Given the description of an element on the screen output the (x, y) to click on. 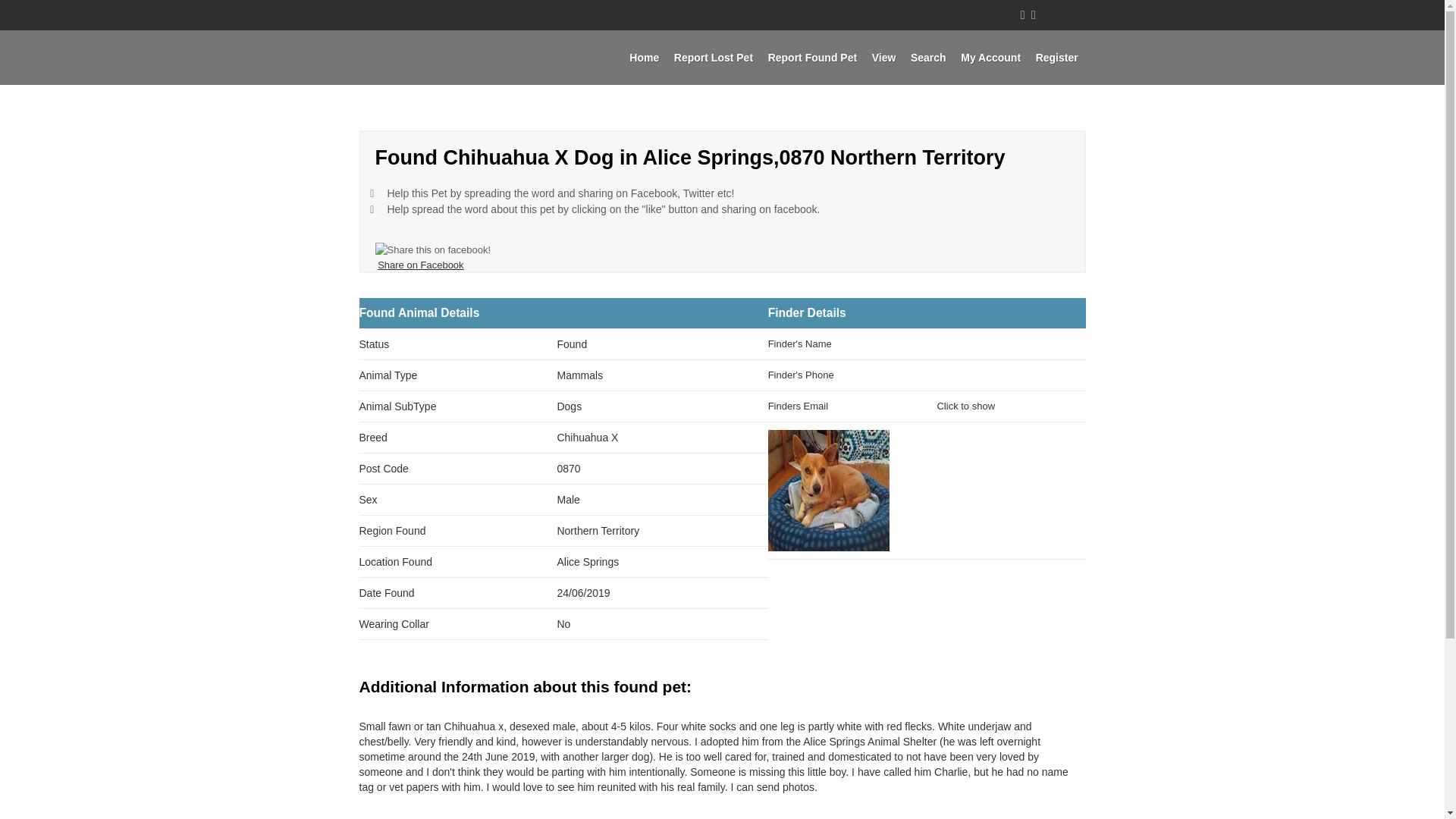
Report Lost Pet (713, 57)
Search (927, 57)
Report Found Pet (812, 57)
My Account (990, 57)
Register (1056, 57)
Share on Facebook (420, 265)
